Given the description of an element on the screen output the (x, y) to click on. 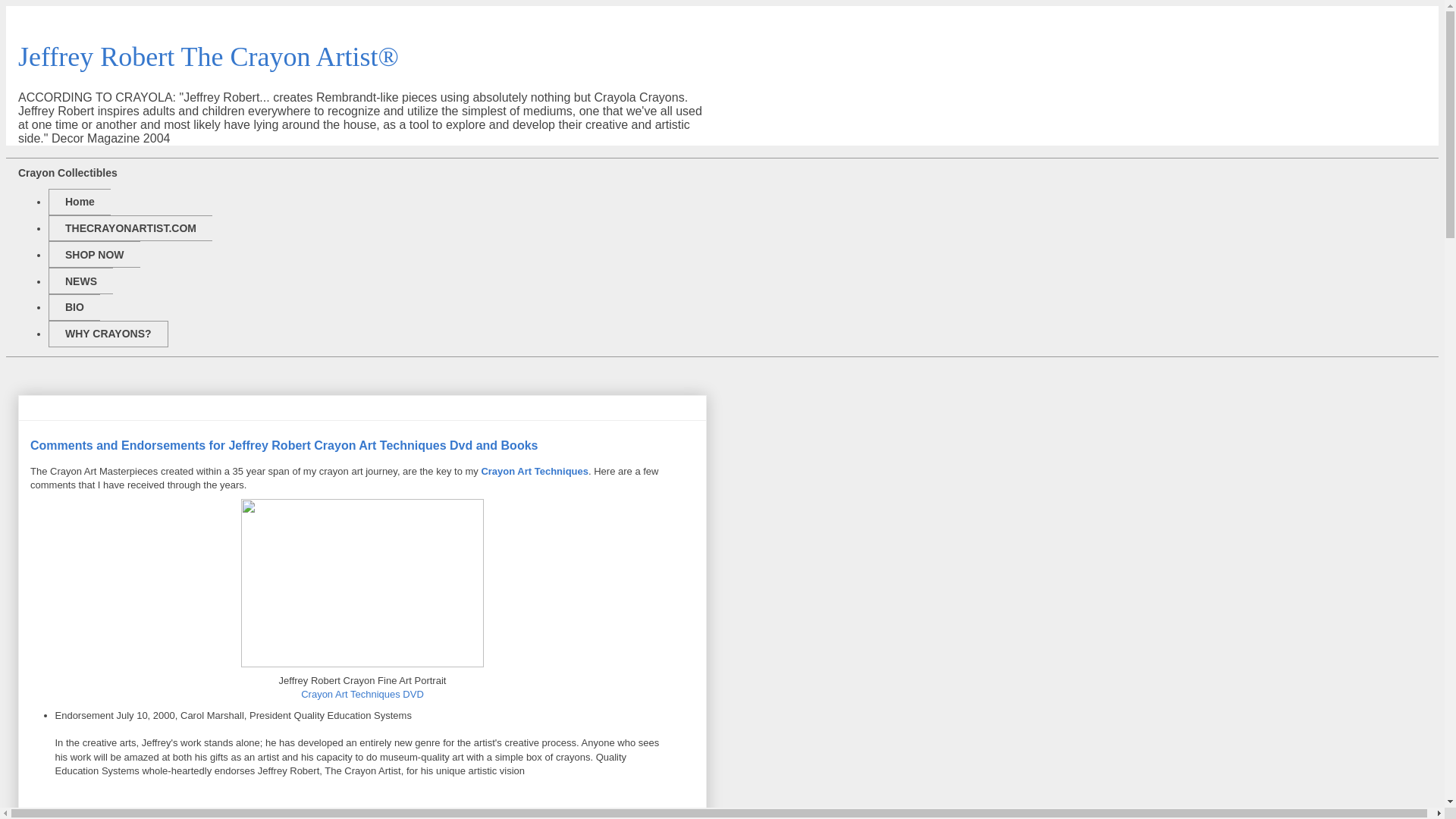
Home (79, 202)
Crayon Art Techniques (534, 471)
Crayon Art Techniques DVD (362, 694)
BIO (74, 307)
NEWS (80, 280)
WHY CRAYONS? (108, 334)
THECRAYONARTIST.COM (130, 228)
SHOP NOW (93, 253)
